Given the description of an element on the screen output the (x, y) to click on. 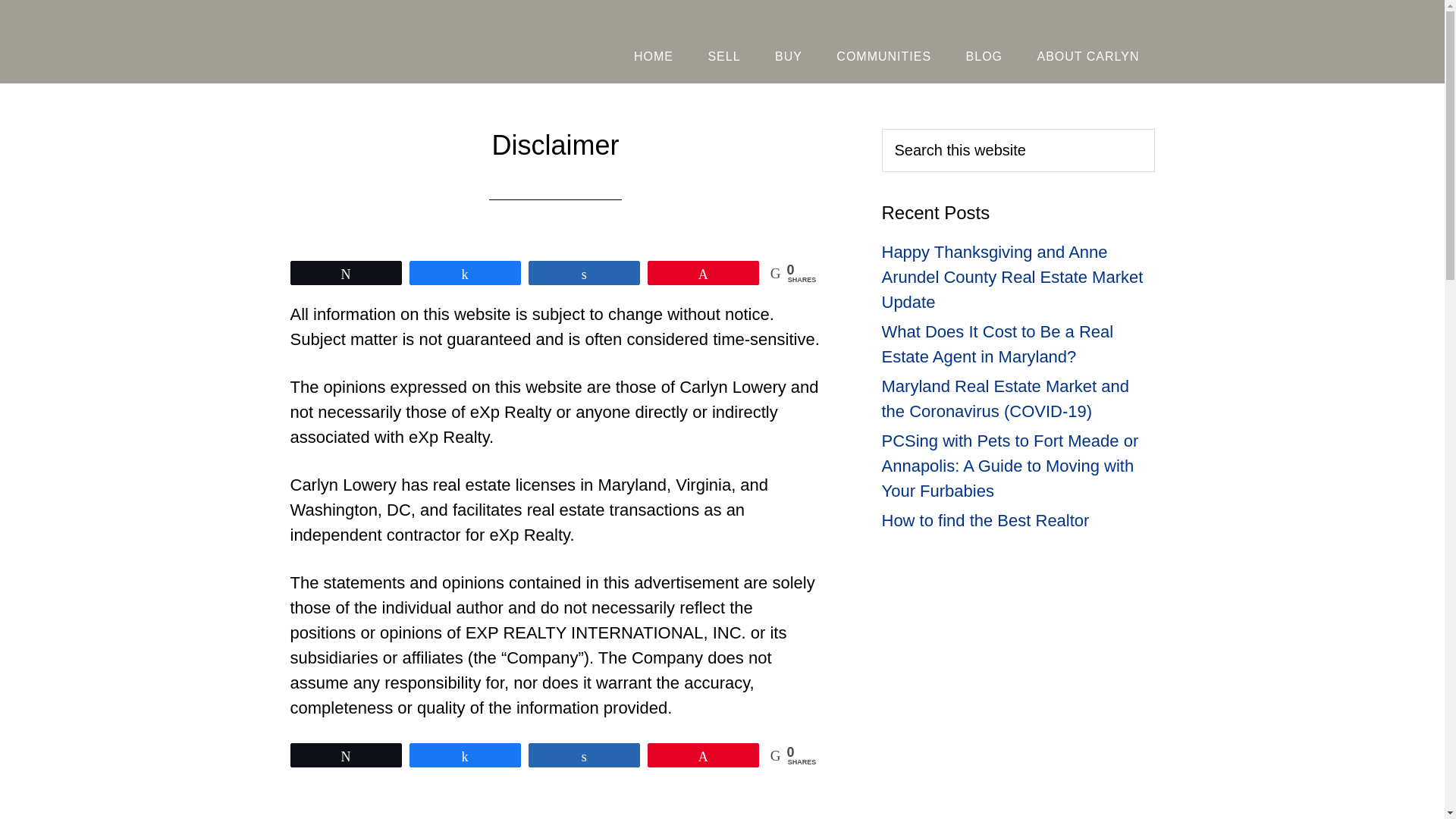
ABOUT CARLYN (1088, 56)
BUY (788, 56)
SELL (724, 56)
COMMUNITIES (883, 56)
BLOG (983, 56)
HOME (653, 56)
